Given the description of an element on the screen output the (x, y) to click on. 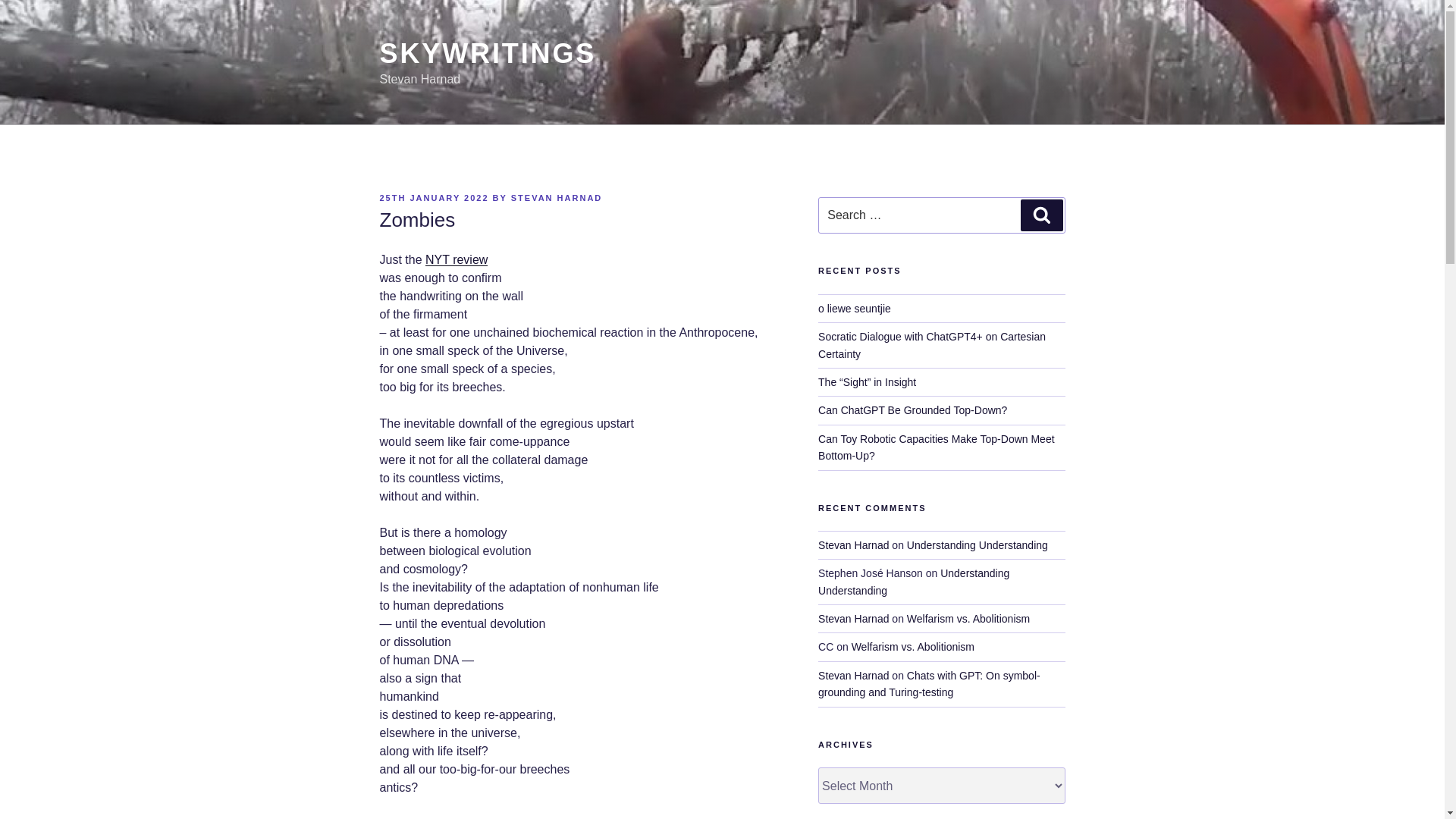
NYT review (456, 259)
Welfarism vs. Abolitionism (968, 618)
Welfarism vs. Abolitionism (912, 646)
Stevan Harnad (853, 618)
Stevan Harnad (853, 544)
STEVAN HARNAD (556, 197)
25TH JANUARY 2022 (432, 197)
o liewe seuntjie (854, 308)
SKYWRITINGS (486, 52)
Can ChatGPT Be Grounded Top-Down? (912, 410)
Stevan Harnad (853, 675)
Search (1041, 214)
Understanding Understanding (977, 544)
Understanding Understanding (913, 581)
Chats with GPT: On symbol-grounding and Turing-testing (929, 683)
